Given the description of an element on the screen output the (x, y) to click on. 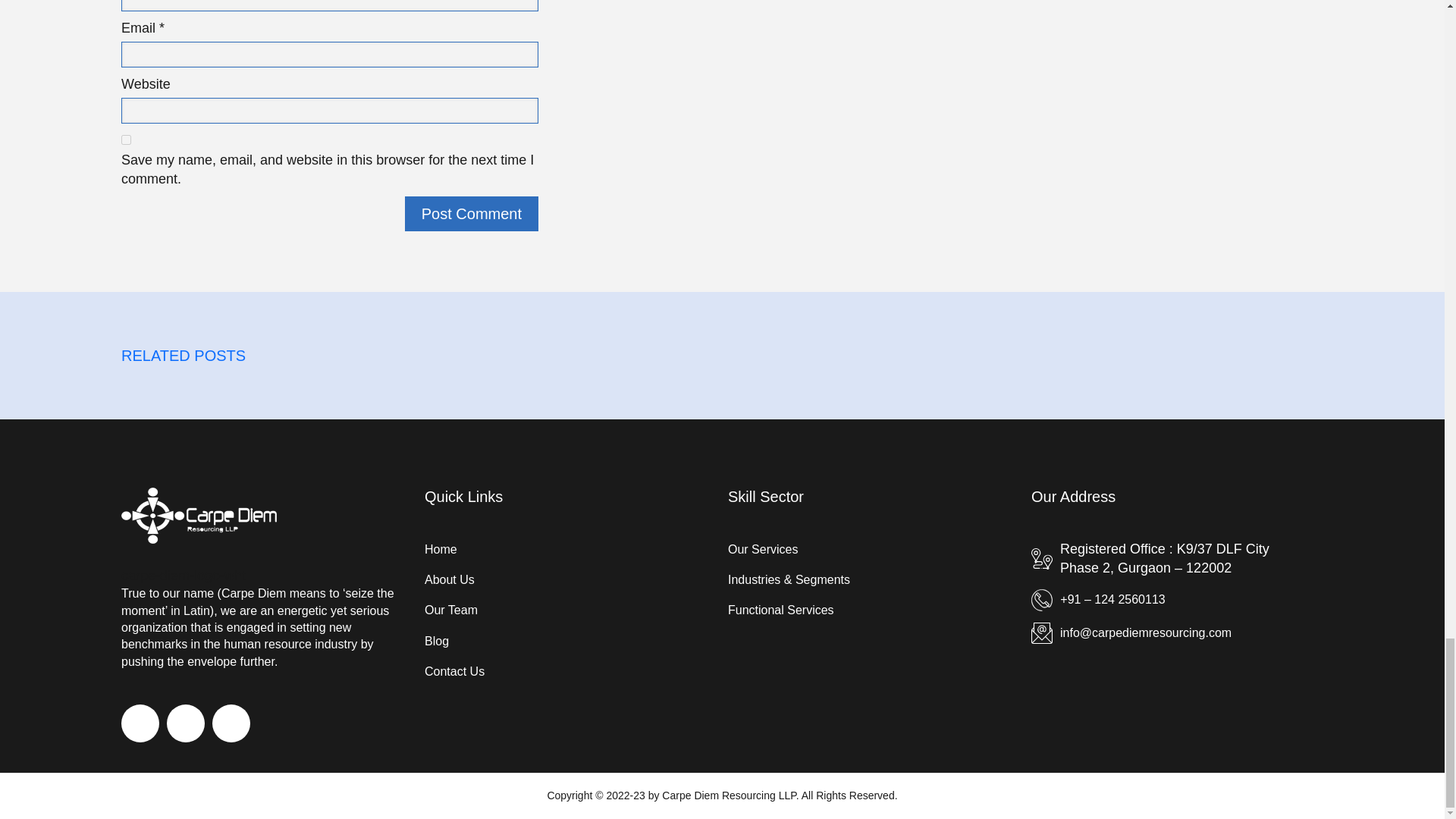
Post Comment (471, 213)
yes (125, 139)
